Given the description of an element on the screen output the (x, y) to click on. 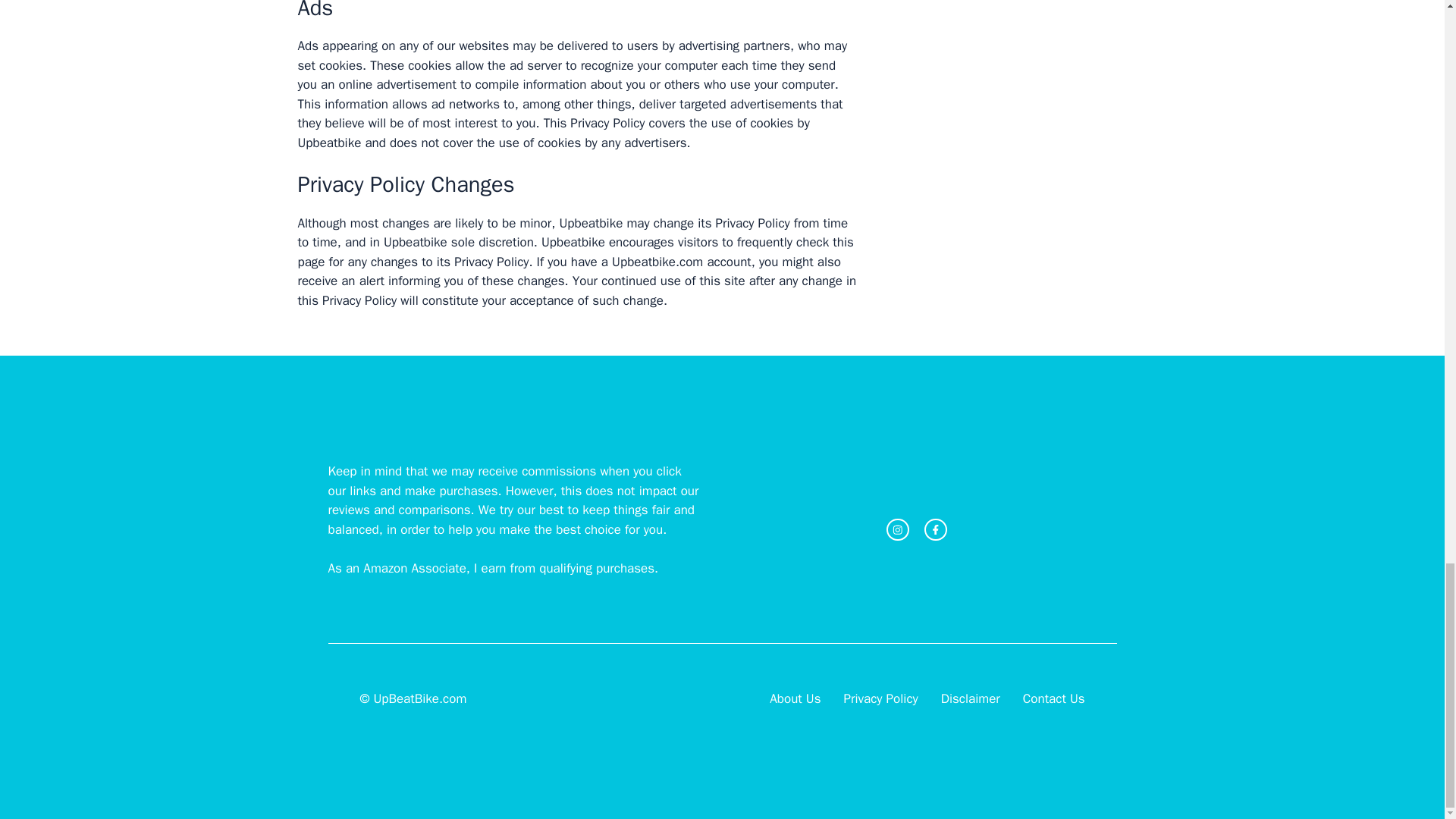
About Us (795, 699)
Privacy Policy (881, 699)
Disclaimer (970, 699)
Contact Us (1053, 699)
